Given the description of an element on the screen output the (x, y) to click on. 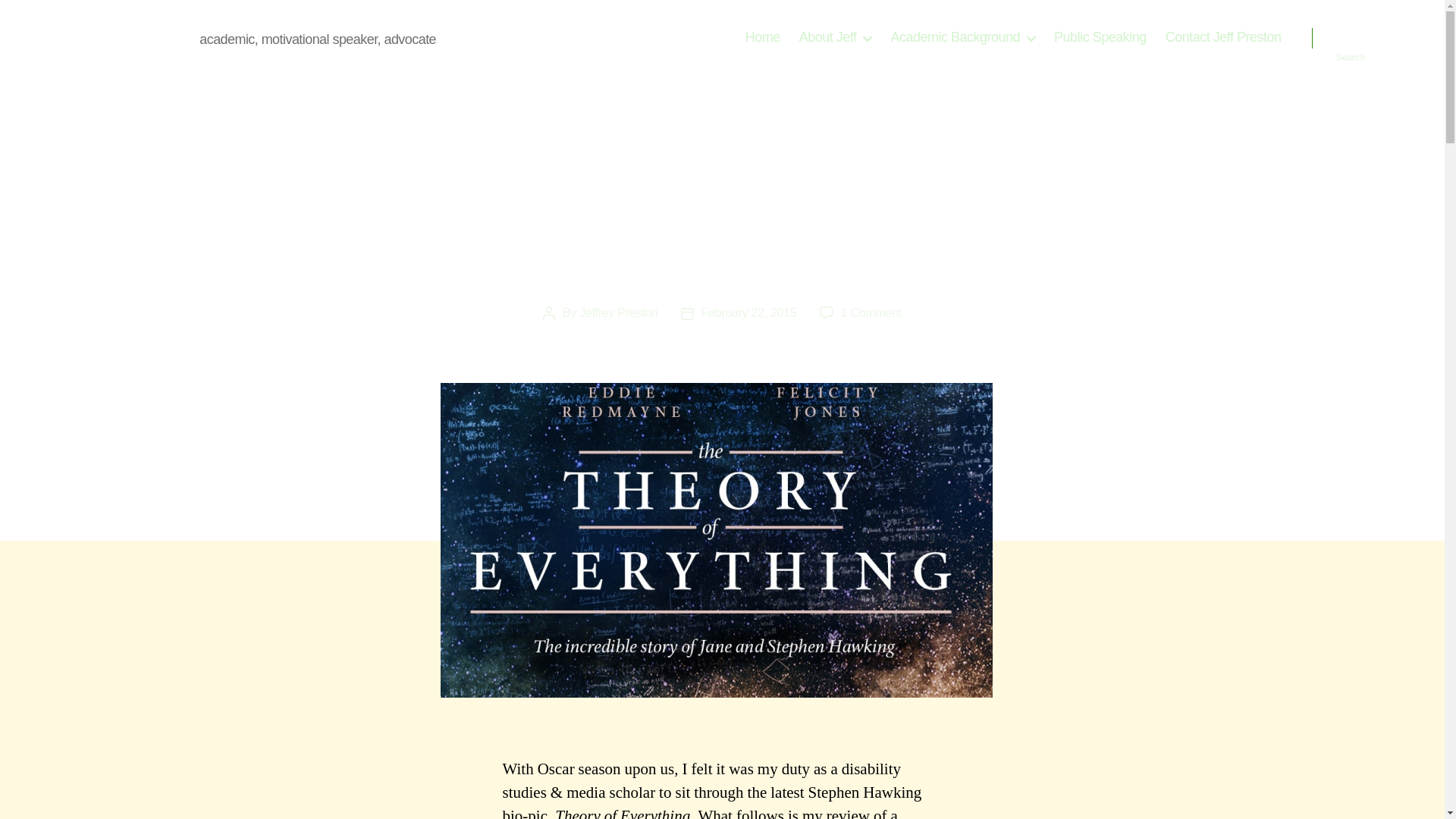
About Jeff (835, 37)
Public Speaking (1100, 37)
Jeffrey Preston (618, 312)
Jeff Preston (132, 37)
February 22, 2015 (748, 312)
Contact Jeff Preston (1223, 37)
Search (1350, 37)
Home (762, 37)
Academic Background (962, 37)
